Given the description of an element on the screen output the (x, y) to click on. 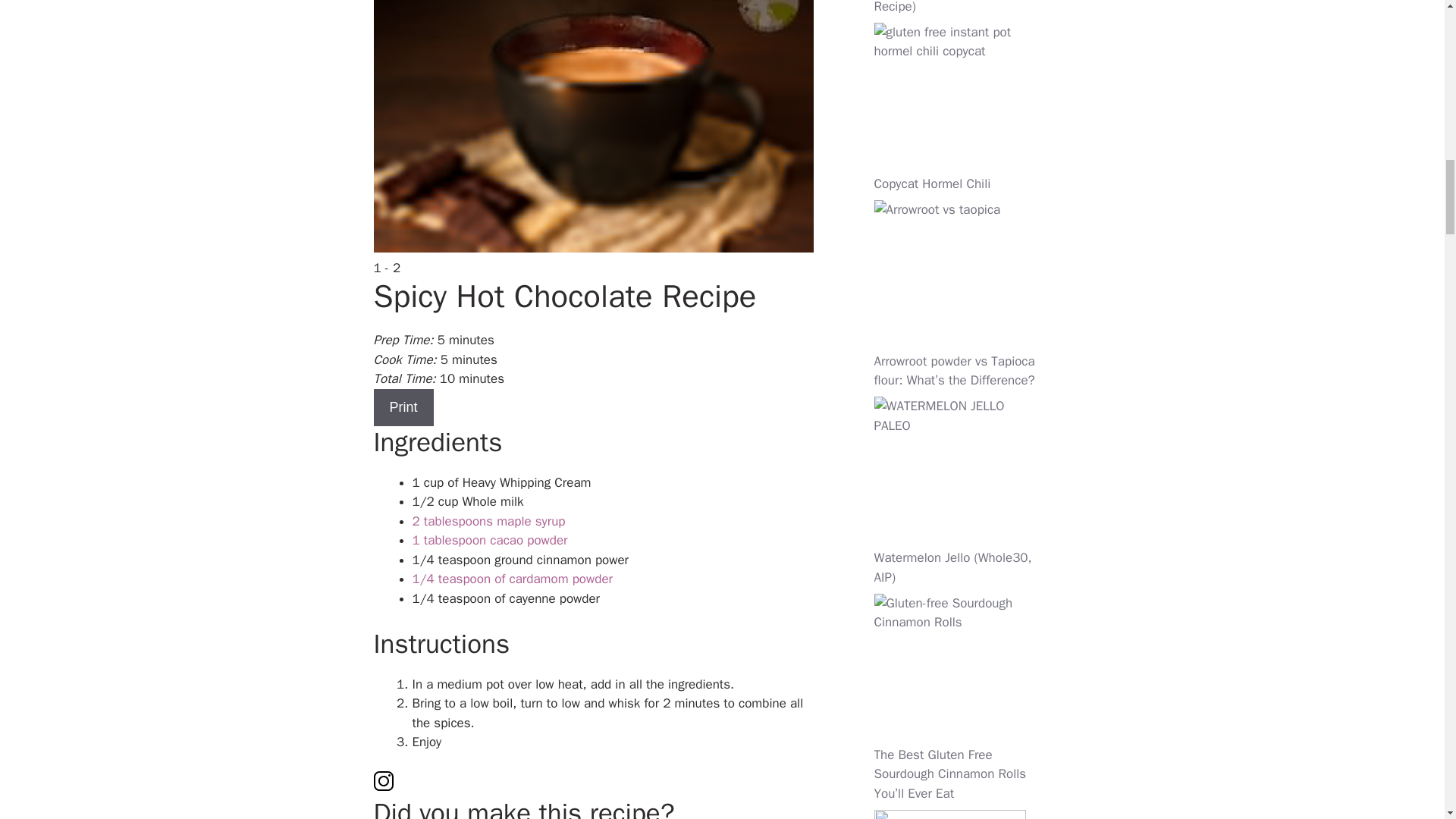
Spicy Hot Chocolate Recipe Kelly Bejelly (592, 126)
Print (402, 407)
